Given the description of an element on the screen output the (x, y) to click on. 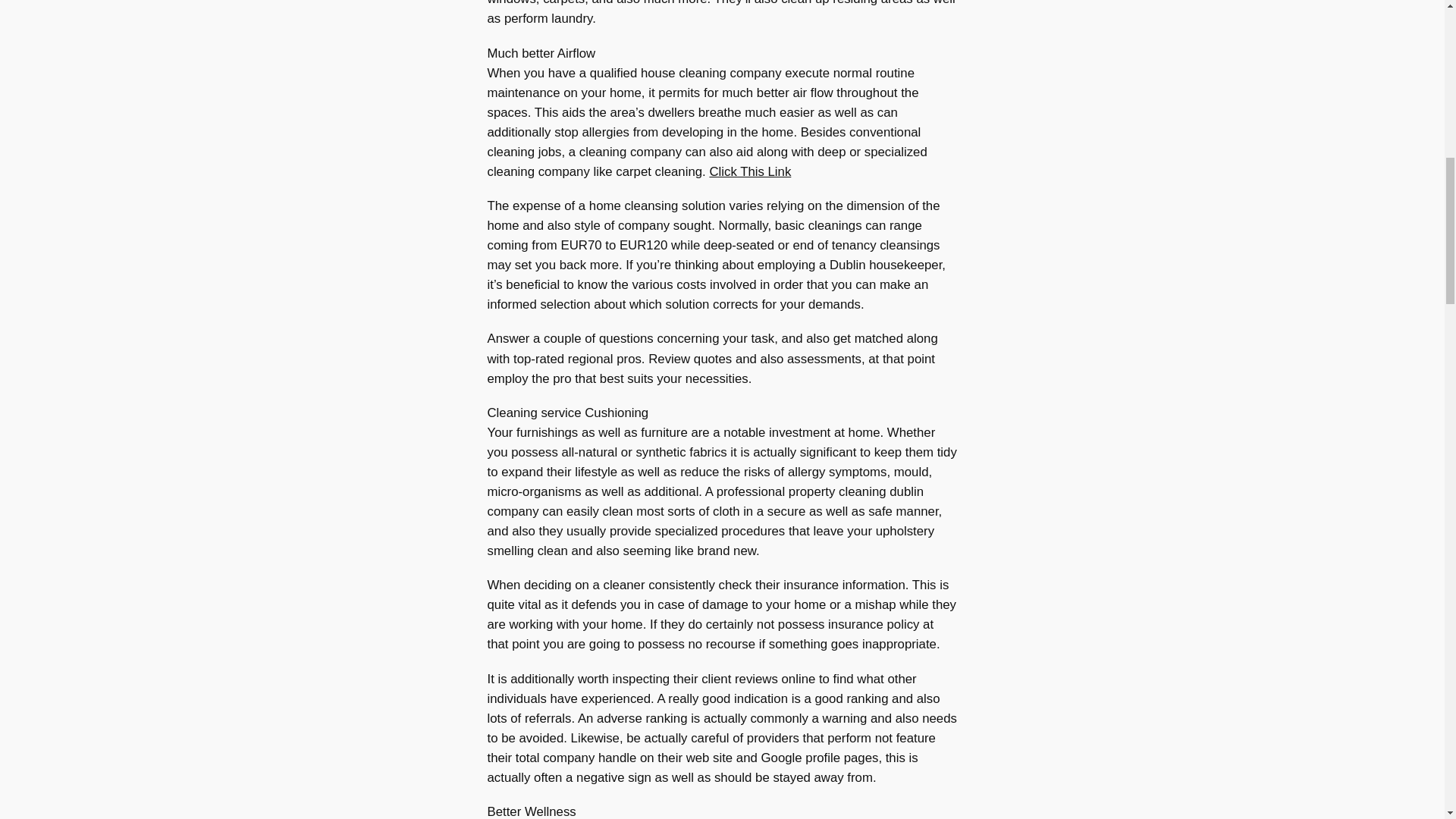
Click This Link (749, 171)
